Given the description of an element on the screen output the (x, y) to click on. 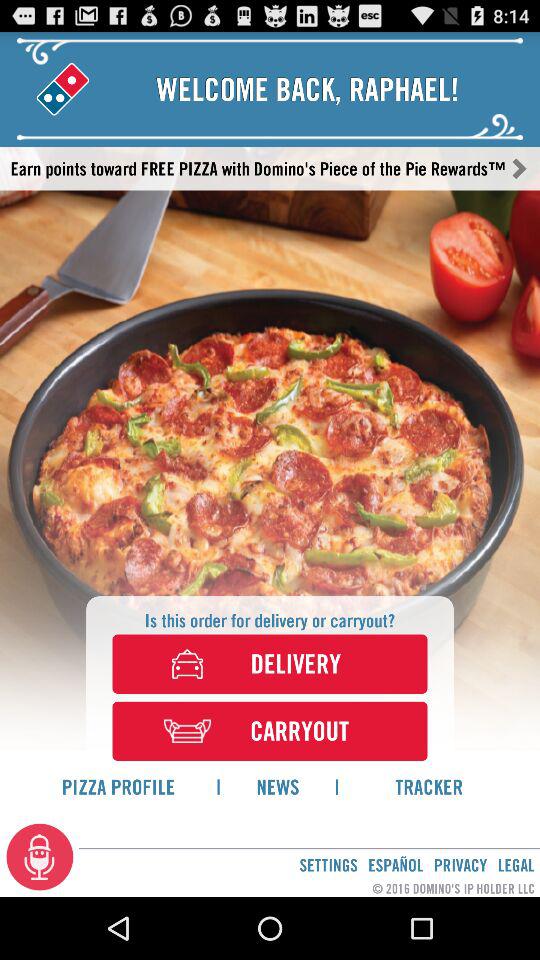
launch tracker item (429, 786)
